Given the description of an element on the screen output the (x, y) to click on. 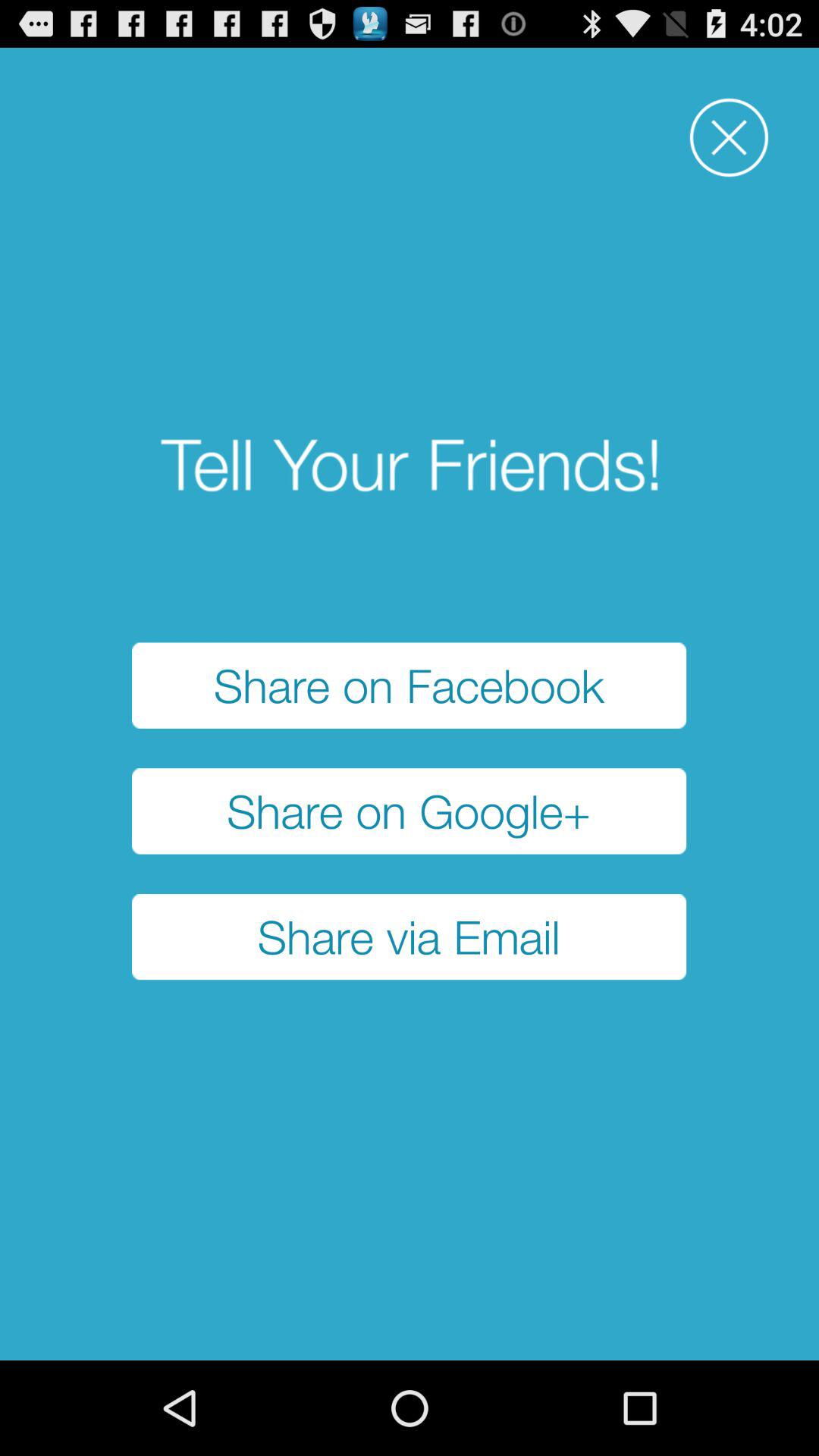
tap button below the share on google+ item (408, 936)
